Given the description of an element on the screen output the (x, y) to click on. 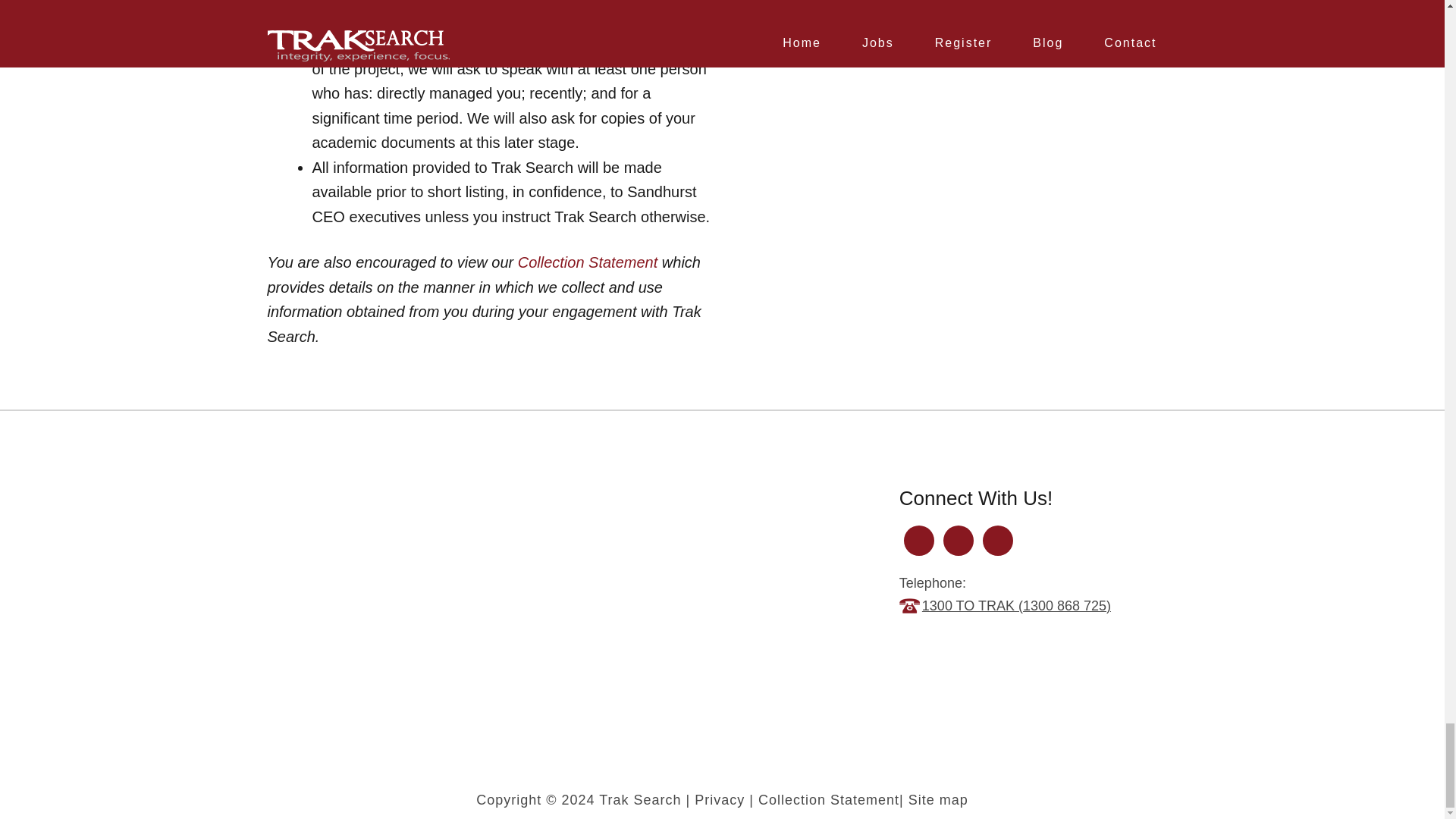
Collection Statement (828, 799)
Privacy (719, 799)
Site map (938, 799)
Collection Statement (588, 262)
